Given the description of an element on the screen output the (x, y) to click on. 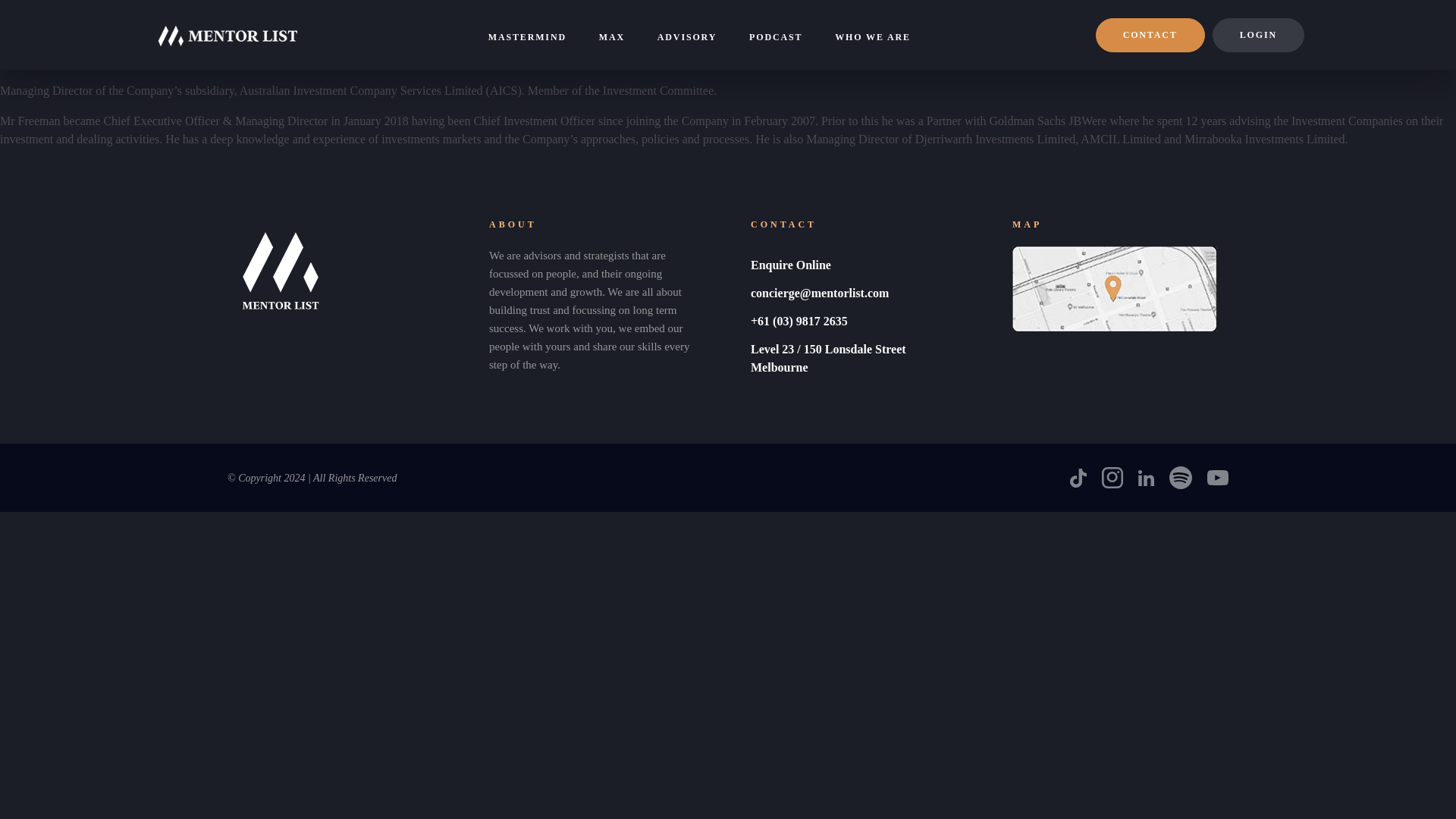
WHO WE ARE (872, 47)
MASTERMIND (526, 47)
LOGIN (1258, 35)
CONTACT (1150, 35)
Enquire Online (791, 265)
MAX (611, 36)
PODCAST (775, 36)
ADVISORY (686, 36)
